Given the description of an element on the screen output the (x, y) to click on. 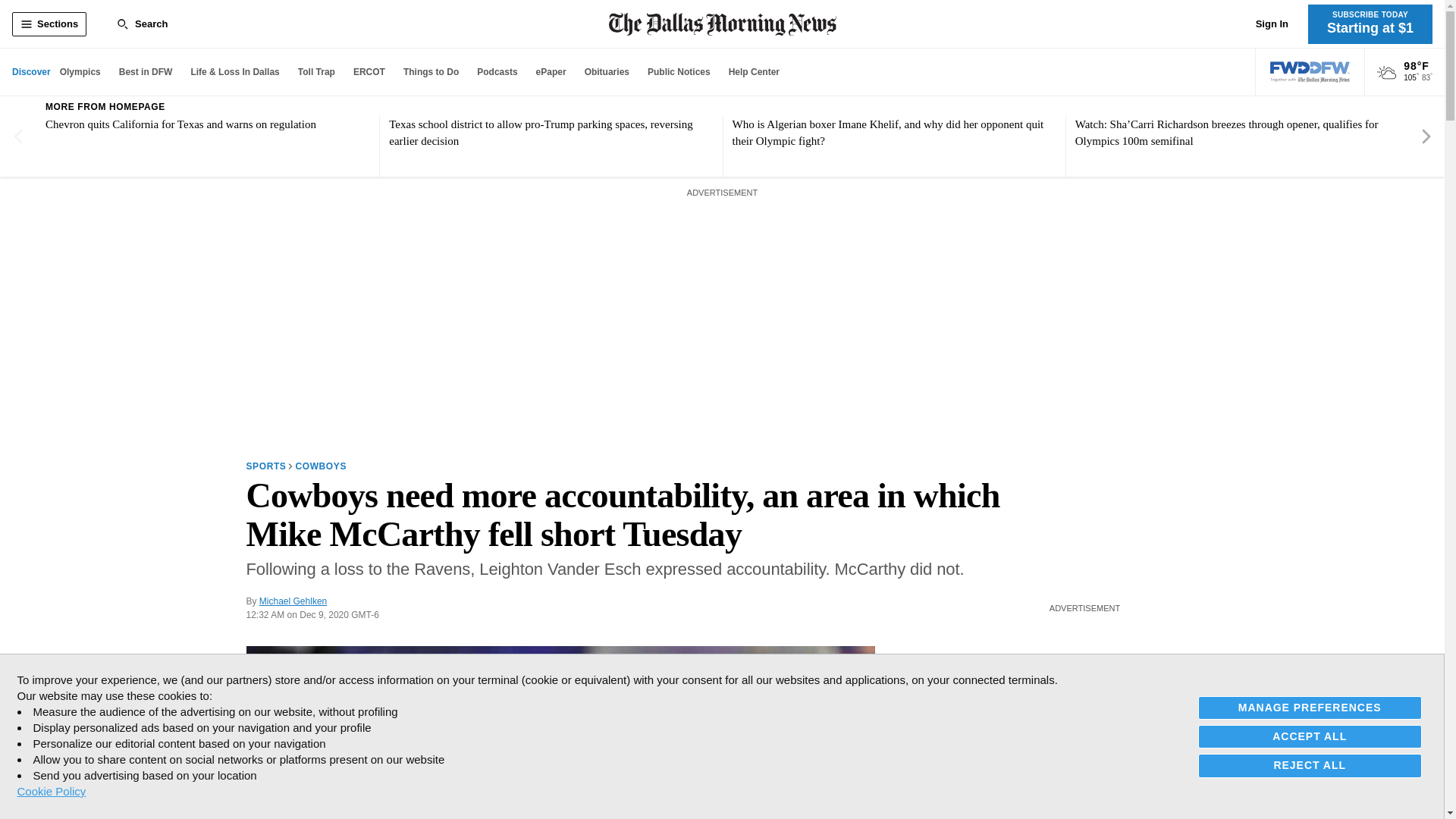
Broken clouds (1386, 72)
REJECT ALL (1310, 765)
MANAGE PREFERENCES (1310, 707)
Cookie Policy (50, 790)
ACCEPT ALL (1310, 736)
FWD DFW, Together with The Dallas Morning News (1310, 72)
